Given the description of an element on the screen output the (x, y) to click on. 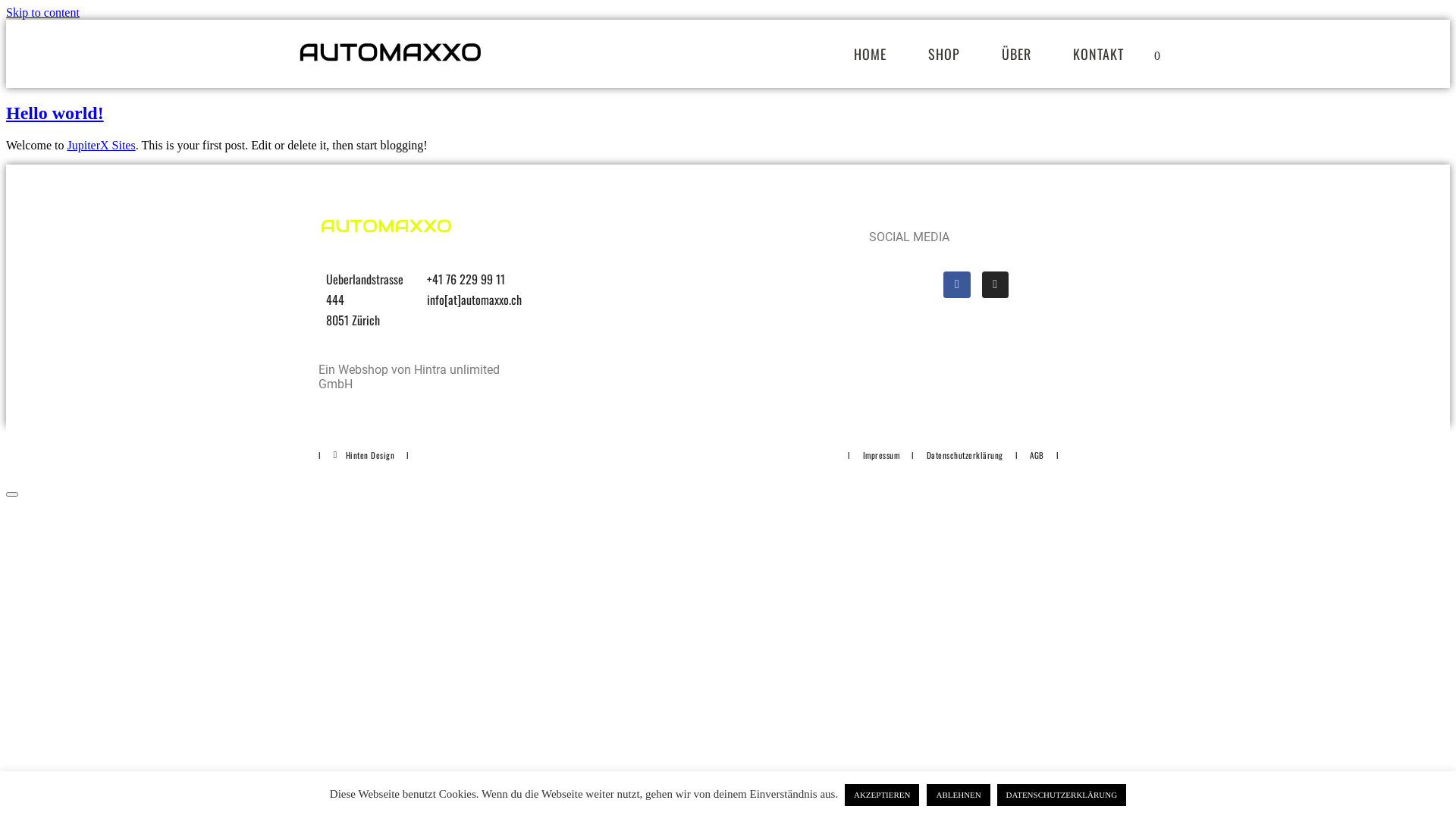
AGB Element type: text (1036, 454)
Impressum Element type: text (881, 454)
HOME Element type: text (870, 53)
SHOP Element type: text (943, 53)
ABLEHNEN Element type: text (957, 795)
Skip to content Element type: text (42, 12)
Hinten Design Element type: text (364, 454)
AKZEPTIEREN Element type: text (881, 795)
0 Element type: text (1155, 55)
KONTAKT Element type: text (1098, 53)
JupiterX Sites Element type: text (100, 144)
Hello world! Element type: text (54, 112)
